Given the description of an element on the screen output the (x, y) to click on. 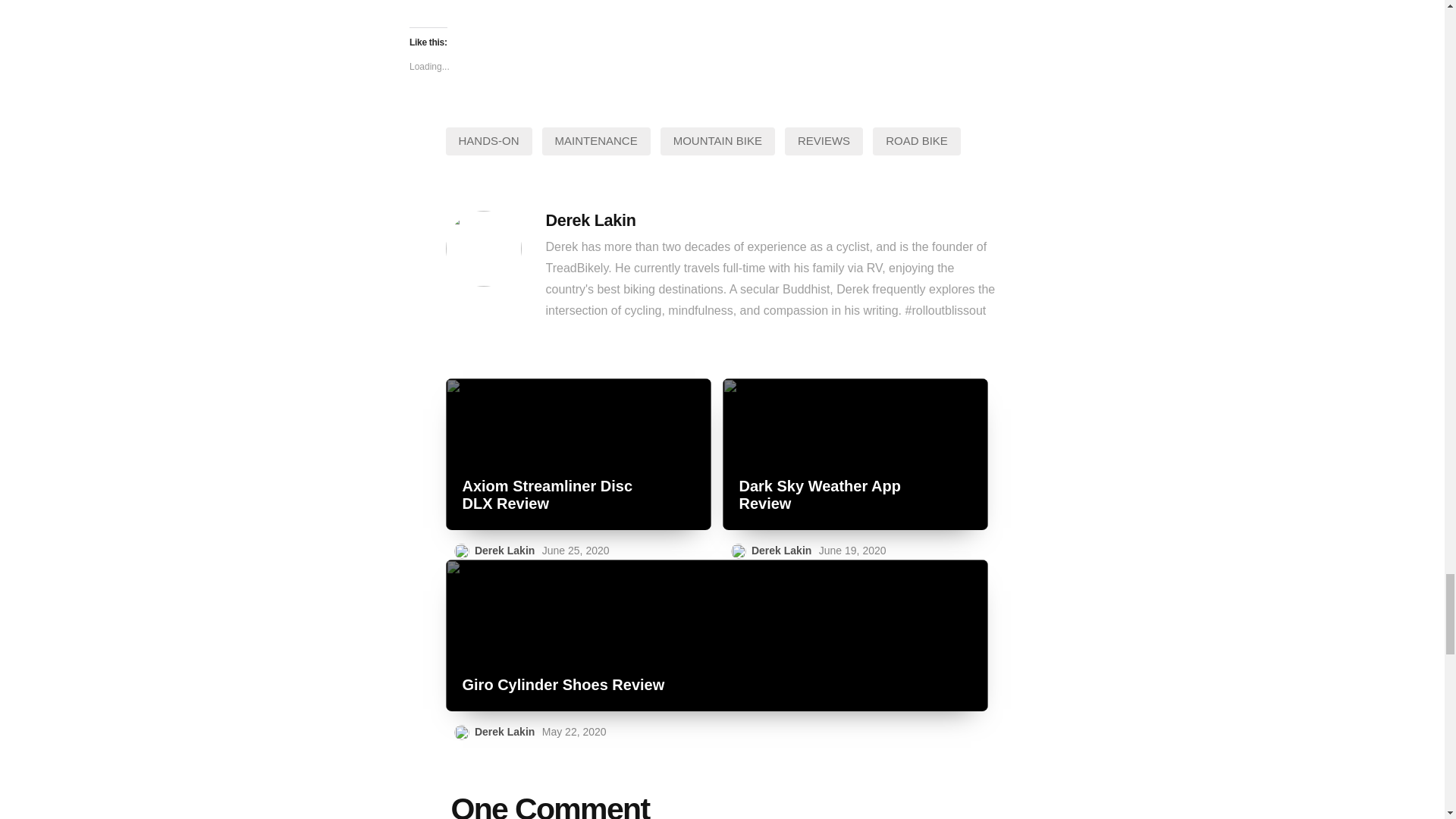
Posts by Derek Lakin (780, 550)
Posts by Derek Lakin (504, 550)
Posts by Derek Lakin (504, 731)
Posts by Derek Lakin (591, 220)
